Given the description of an element on the screen output the (x, y) to click on. 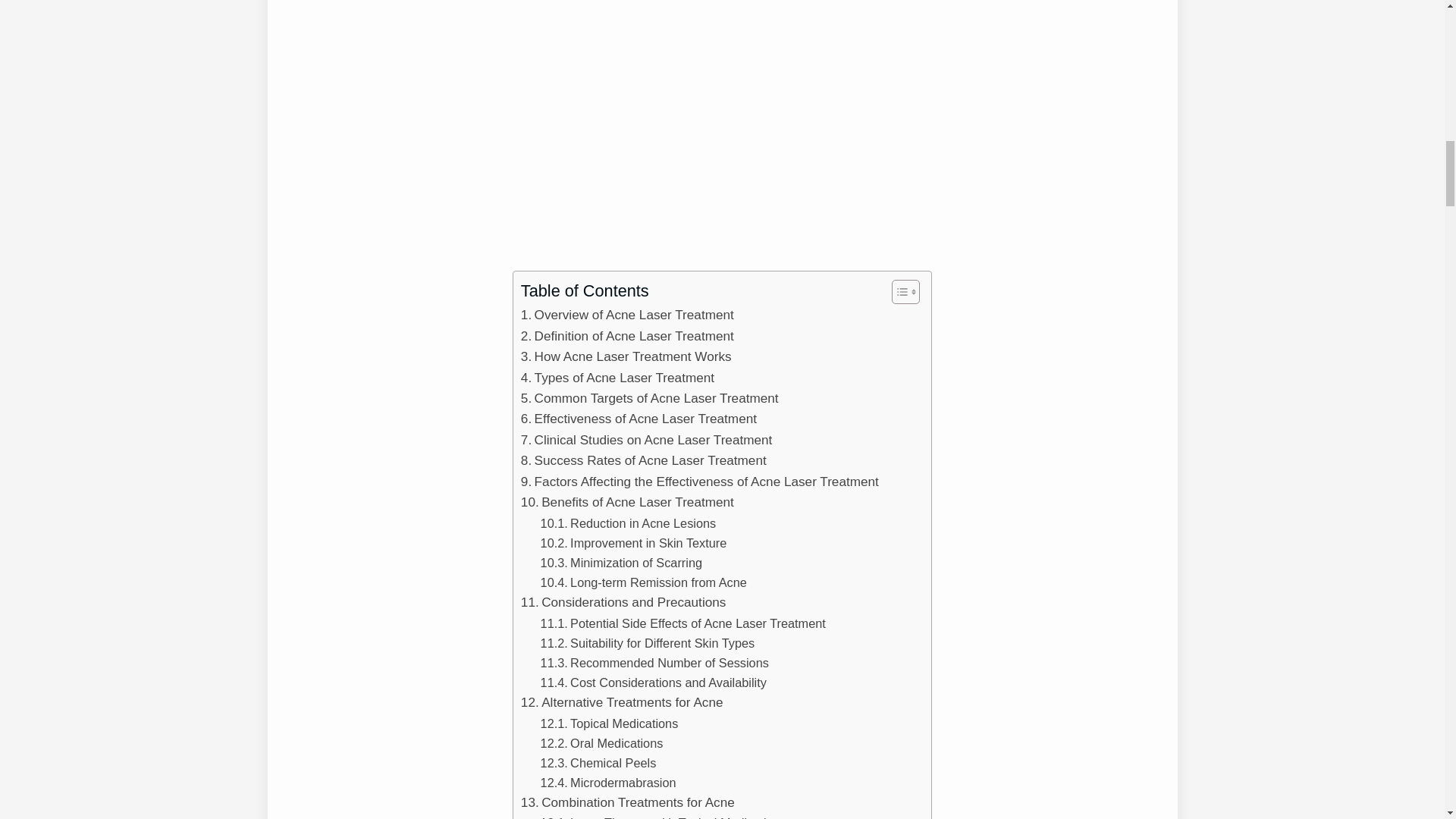
Clinical Studies on Acne Laser Treatment (647, 439)
Suitability for Different Skin Types (647, 642)
Chemical Peels (598, 762)
Effectiveness of Acne Laser Treatment (639, 418)
Definition of Acne Laser Treatment (627, 335)
Benefits of Acne Laser Treatment (627, 502)
Potential Side Effects of Acne Laser Treatment (682, 623)
How Acne Laser Treatment Works (626, 356)
Long-term Remission from Acne (643, 582)
Benefits of Acne Laser Treatment (627, 502)
